Given the description of an element on the screen output the (x, y) to click on. 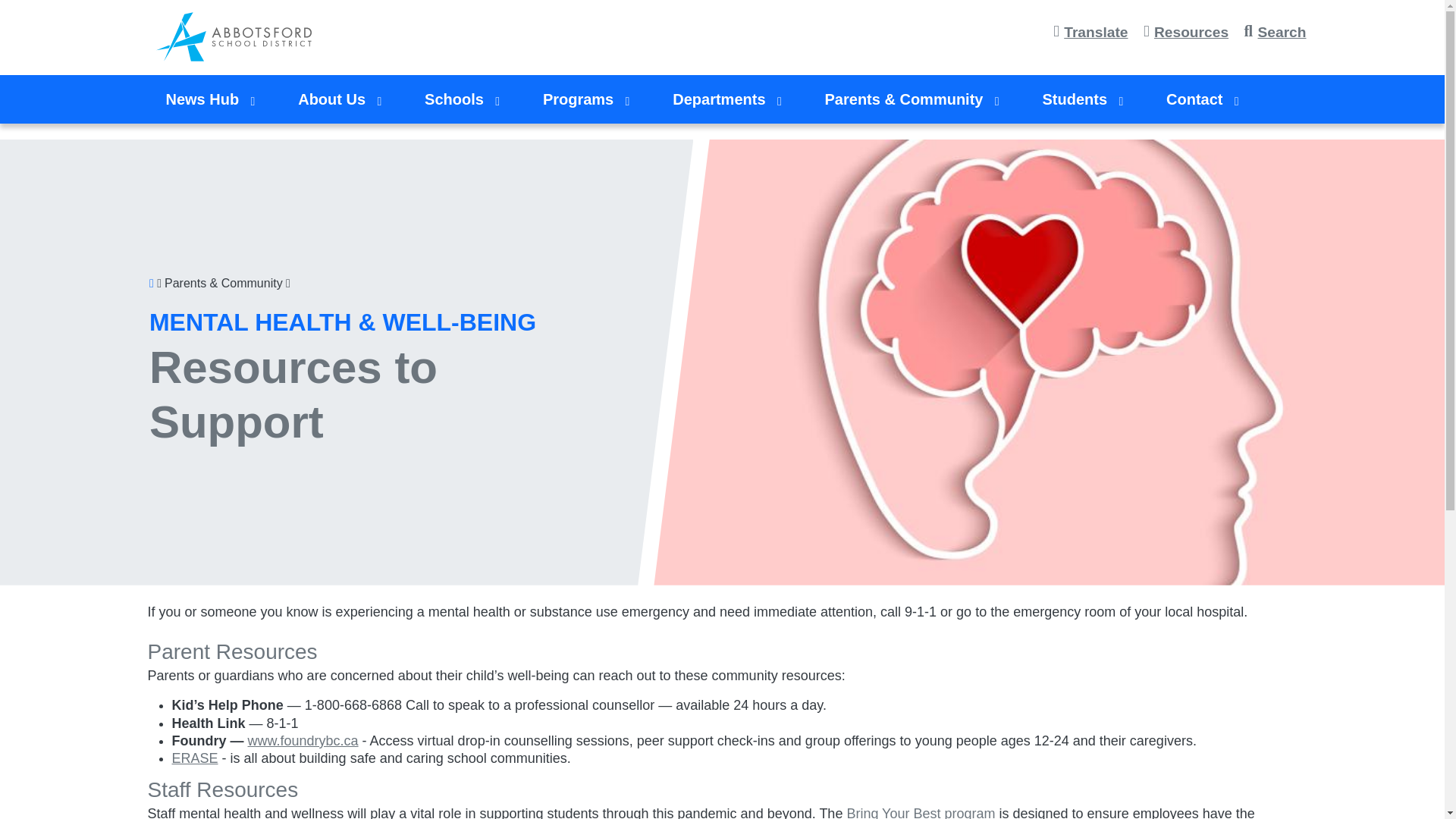
Resources (1189, 32)
Translate (1095, 32)
Home (238, 36)
Search (1279, 32)
